Given the description of an element on the screen output the (x, y) to click on. 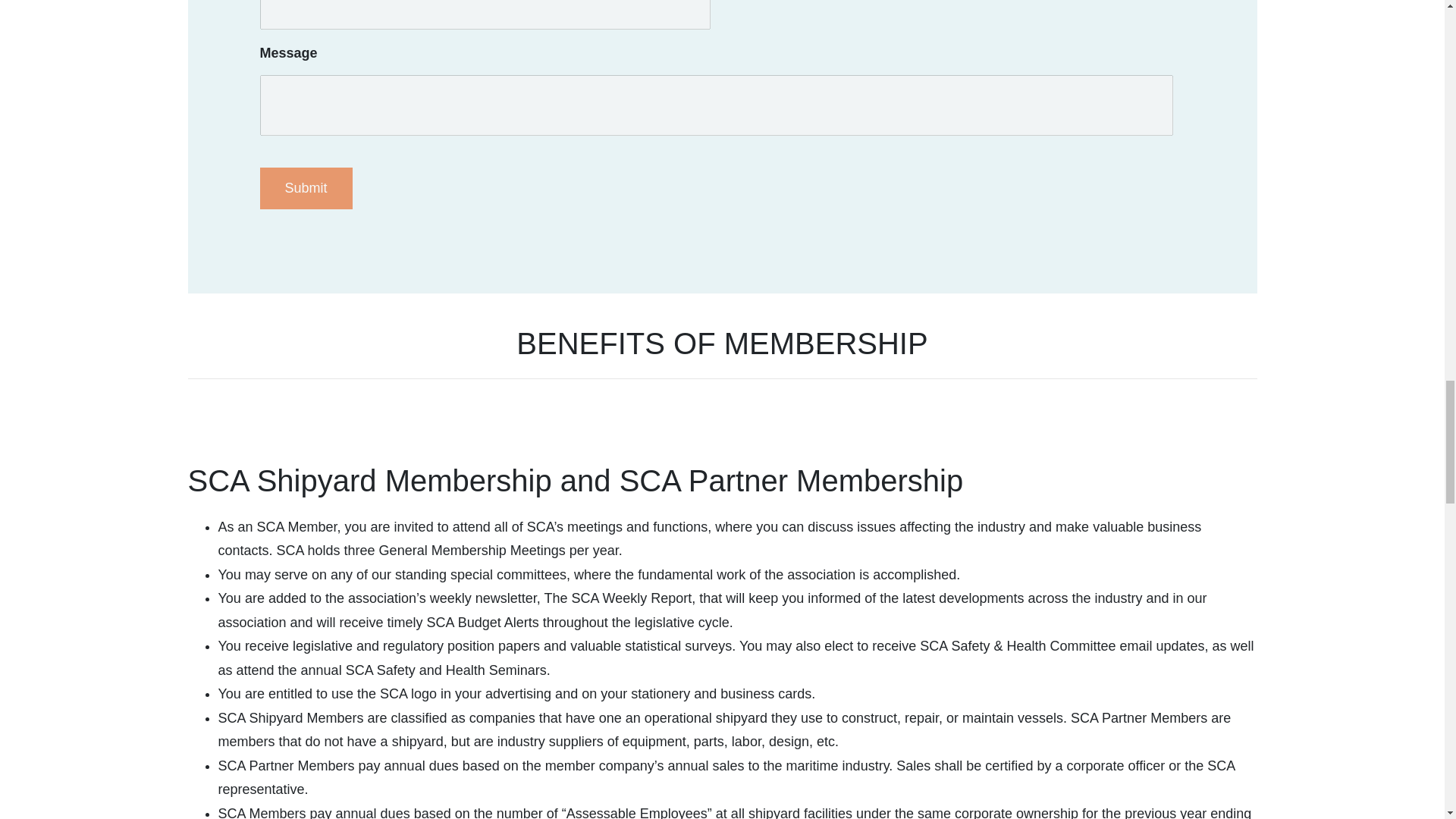
Submit (305, 187)
